Given the description of an element on the screen output the (x, y) to click on. 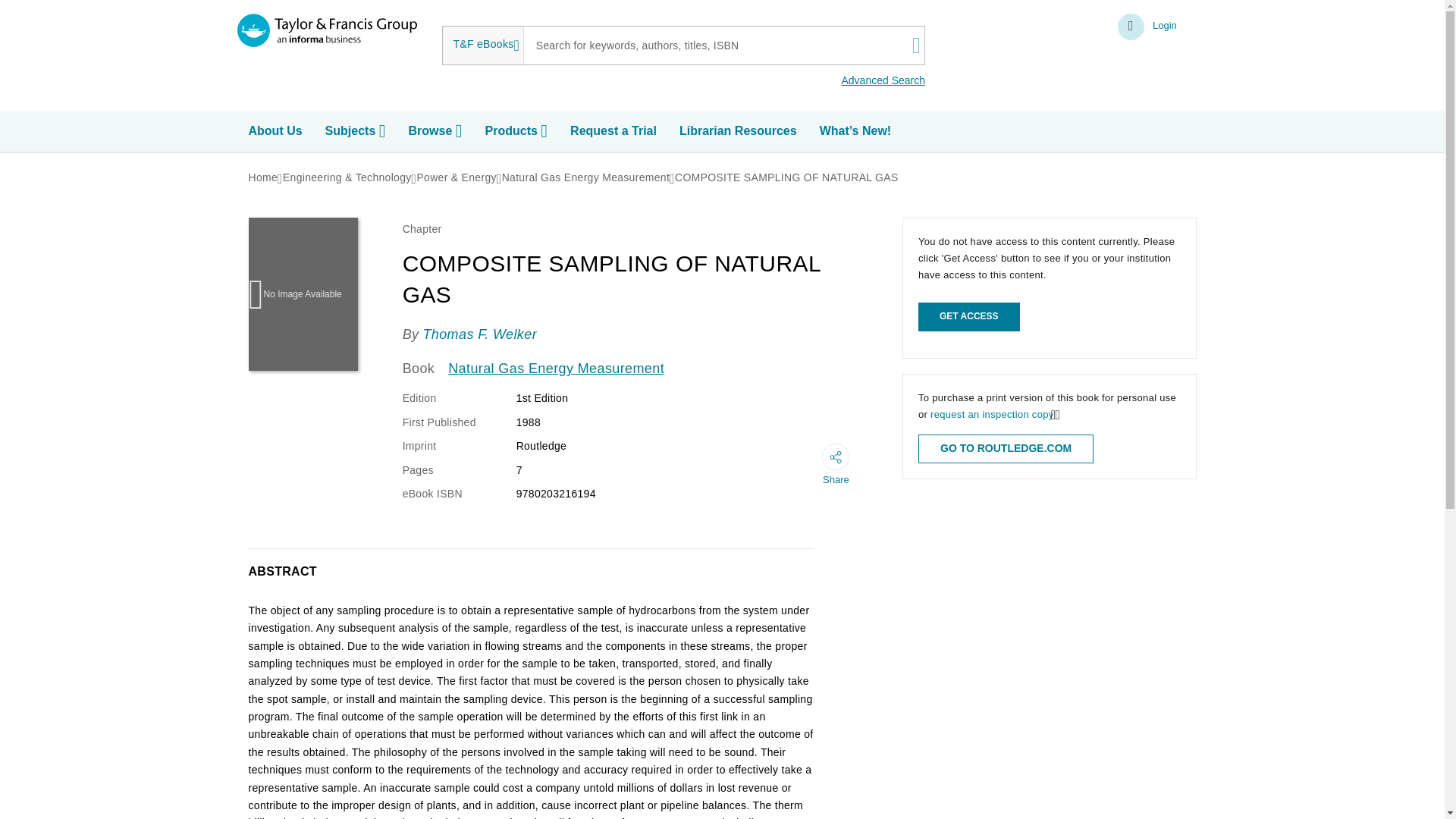
About Us (276, 130)
request an inspection copy (991, 414)
Login (1147, 26)
Products (517, 130)
Subjects (357, 130)
GET ACCESS (969, 316)
Librarian Resources (739, 130)
Request a Trial (615, 130)
Request a Trial (615, 130)
Products (517, 130)
Librarian Resources (739, 130)
About Us (276, 130)
Natural Gas Energy Measurement (555, 369)
Natural Gas Energy Measurement (585, 177)
COMPOSITE SAMPLING OF NATURAL GAS (786, 177)
